Given the description of an element on the screen output the (x, y) to click on. 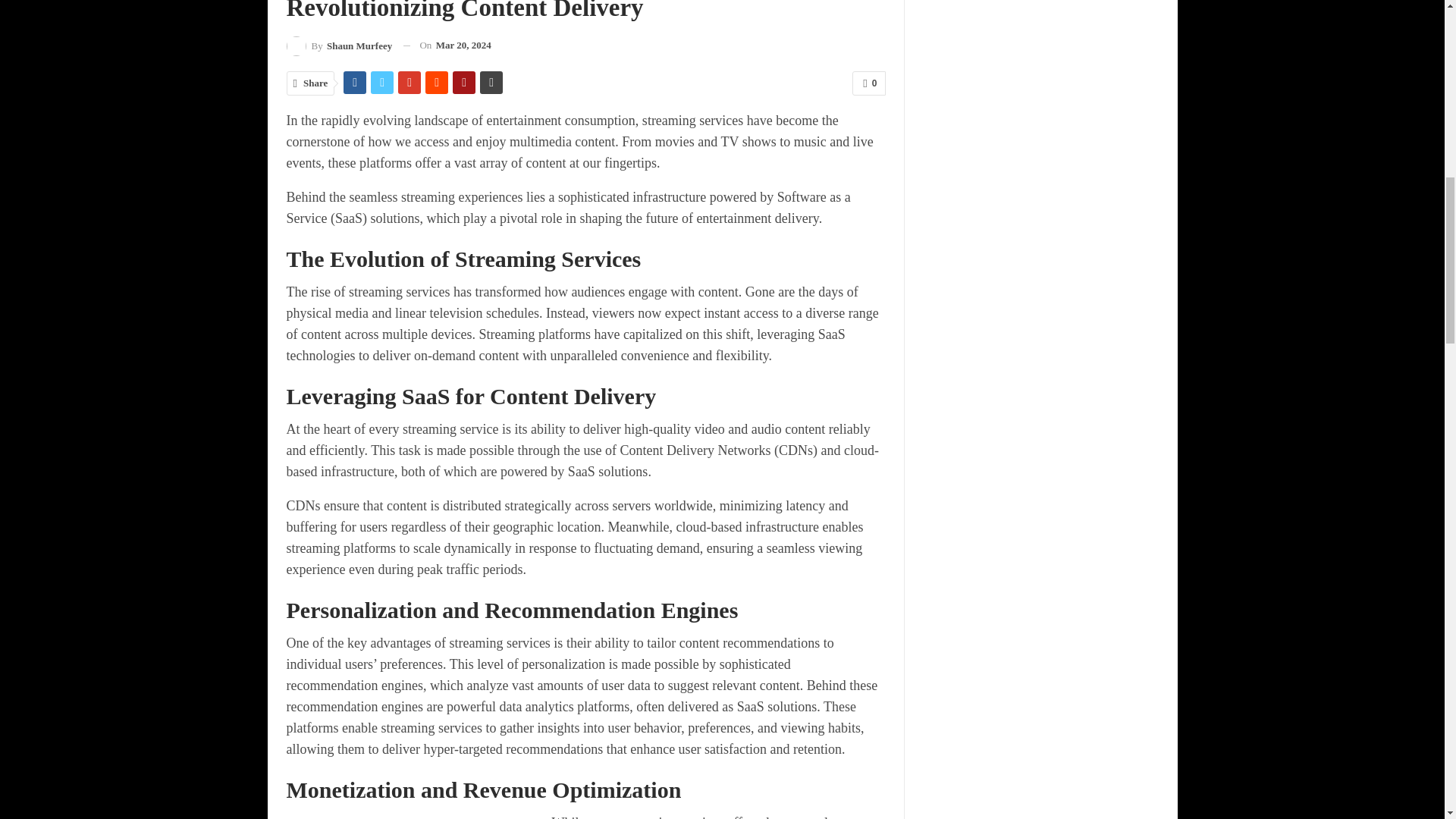
0 (868, 83)
Browse Author Articles (339, 46)
By Shaun Murfeey (339, 46)
